Given the description of an element on the screen output the (x, y) to click on. 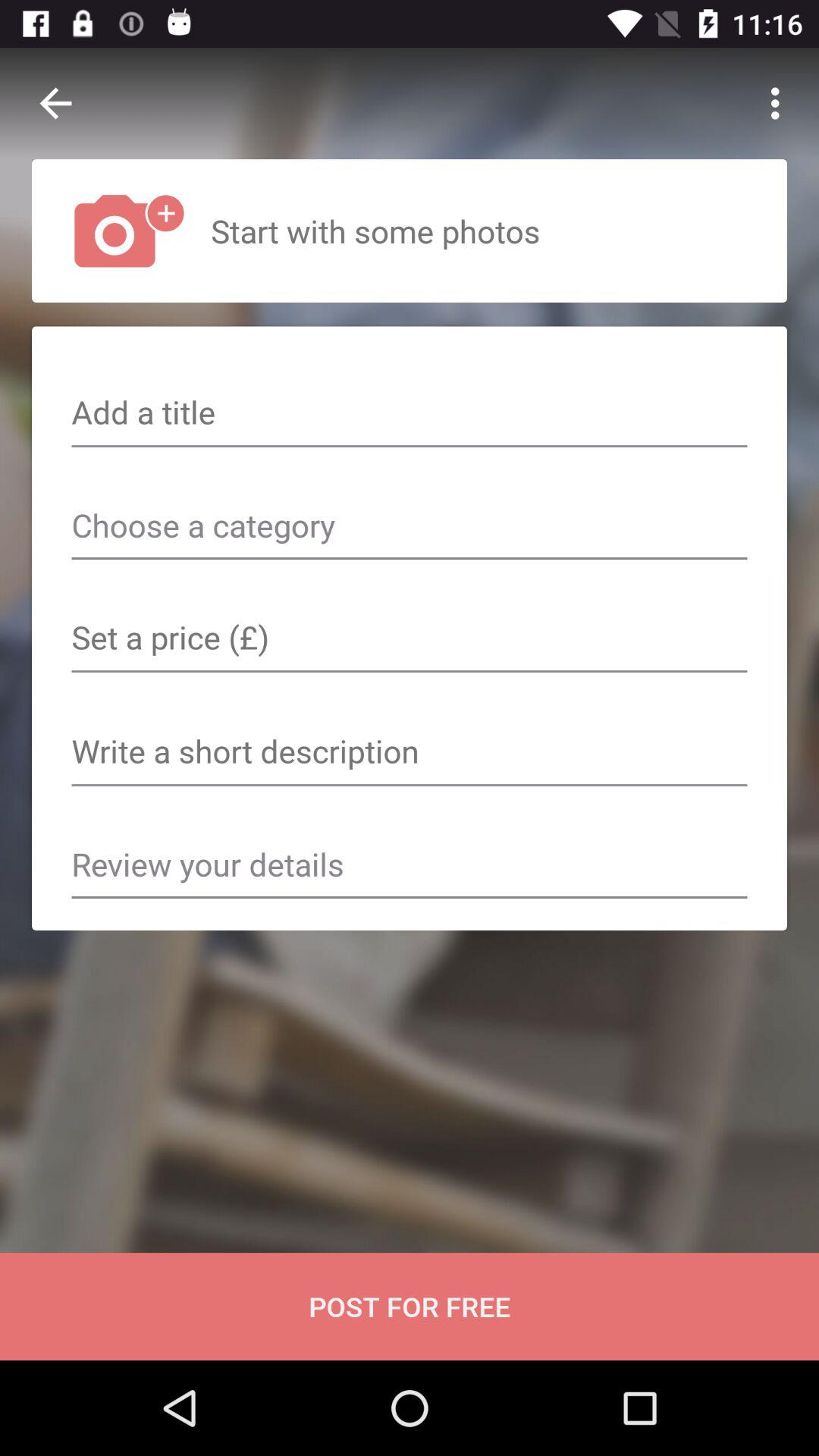
type a tittle advertisements (409, 413)
